Given the description of an element on the screen output the (x, y) to click on. 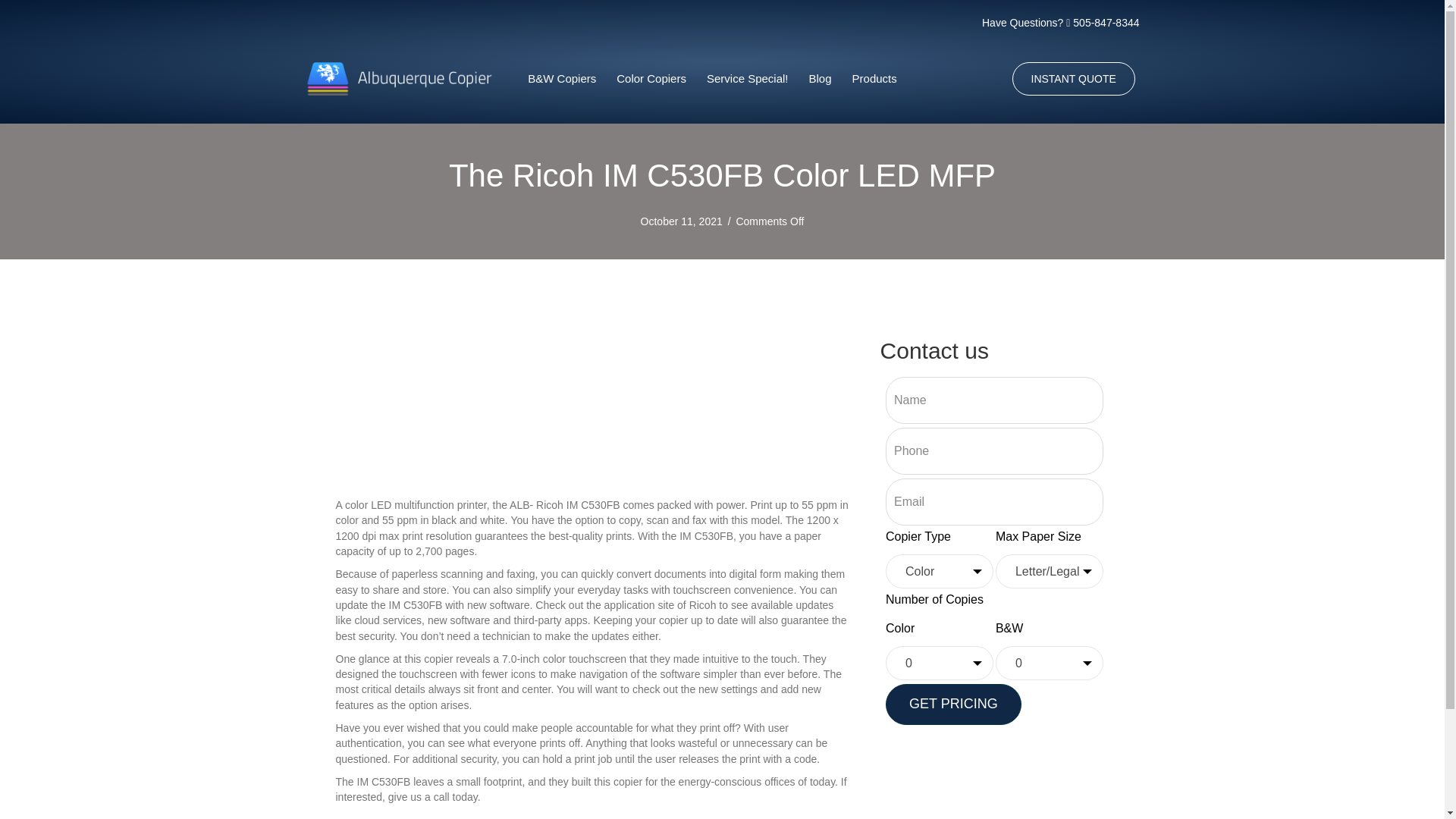
INSTANT QUOTE (1072, 78)
505-847-8344 (1105, 22)
Blog (820, 78)
Color Copiers (651, 78)
Service Special! (747, 78)
Products (875, 78)
GET PRICING (953, 703)
